Given the description of an element on the screen output the (x, y) to click on. 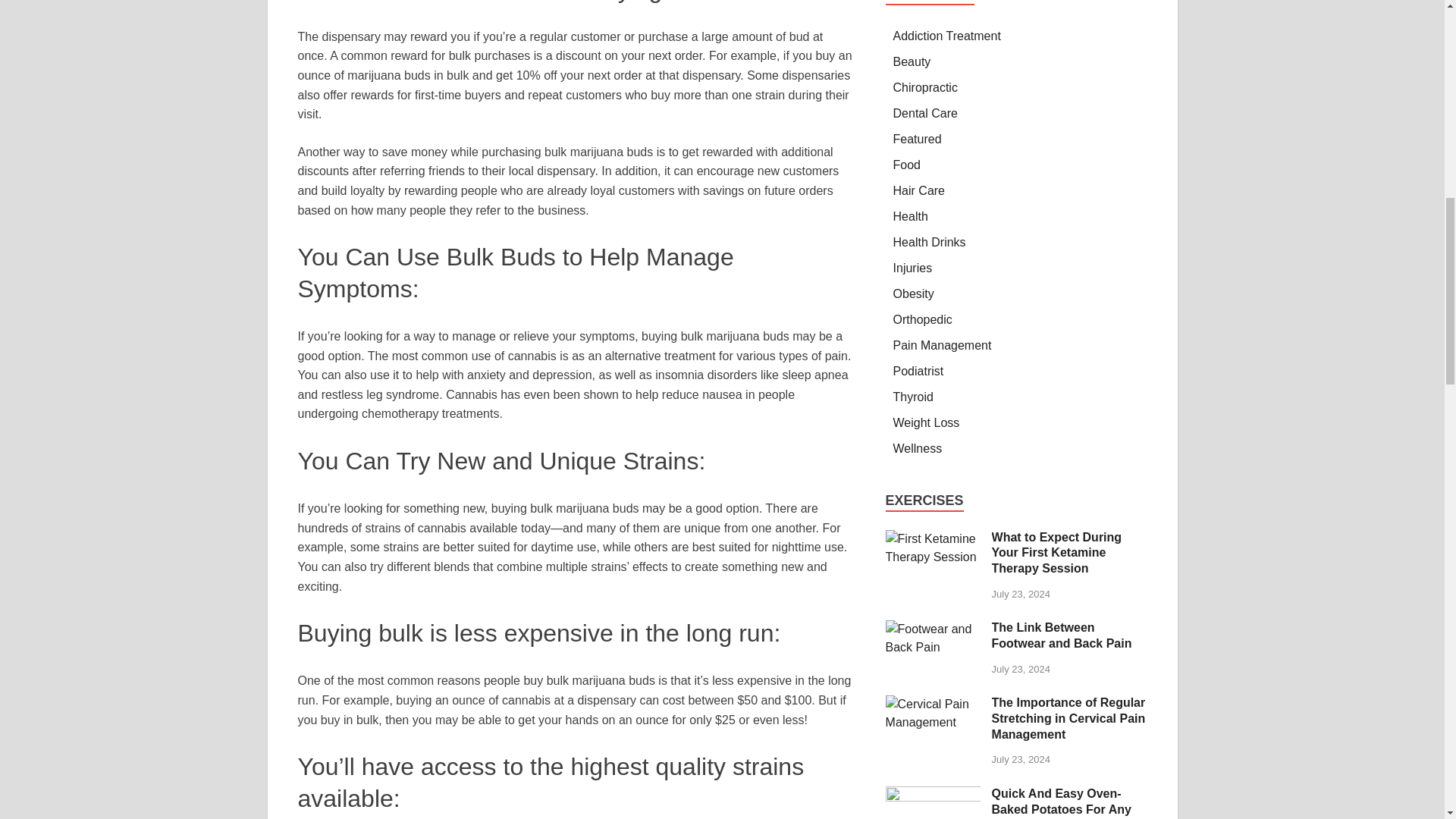
Quick And Easy Oven-Baked Potatoes For Any Meal (932, 794)
The Link Between Footwear and Back Pain (932, 628)
What to Expect During Your First Ketamine Therapy Session (932, 538)
